Given the description of an element on the screen output the (x, y) to click on. 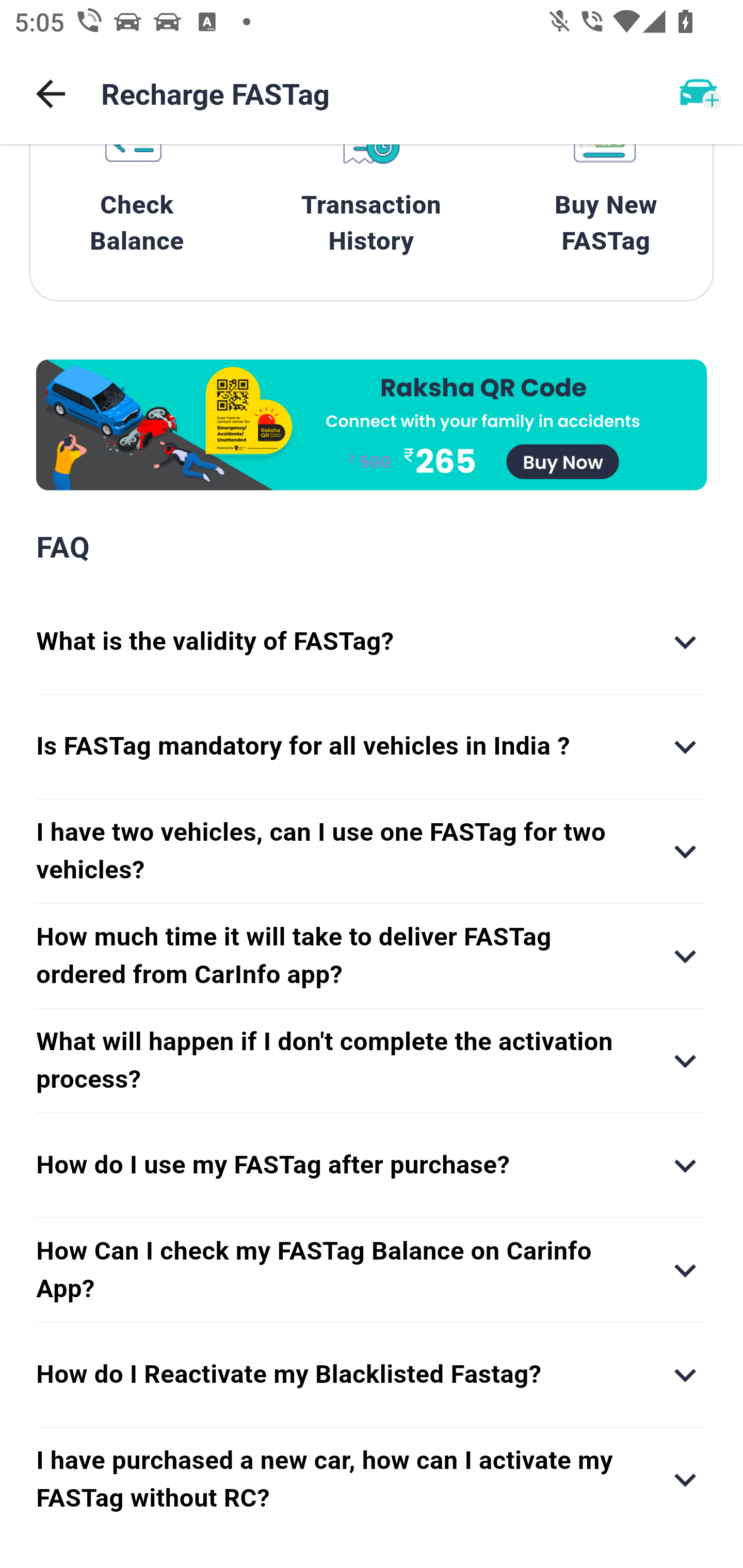
Back (50, 93)
Check
Balance (136, 208)
Transaction
History (371, 208)
Buy New
FASTag (605, 208)
What is the validity of FASTag? (371, 641)
Is FASTag mandatory for all vehicles in India ? (371, 746)
How do I use my FASTag after purchase? (371, 1165)
How Can I check my FASTag Balance on Carinfo App? (371, 1269)
How do I Reactivate my Blacklisted Fastag? (371, 1373)
